Given the description of an element on the screen output the (x, y) to click on. 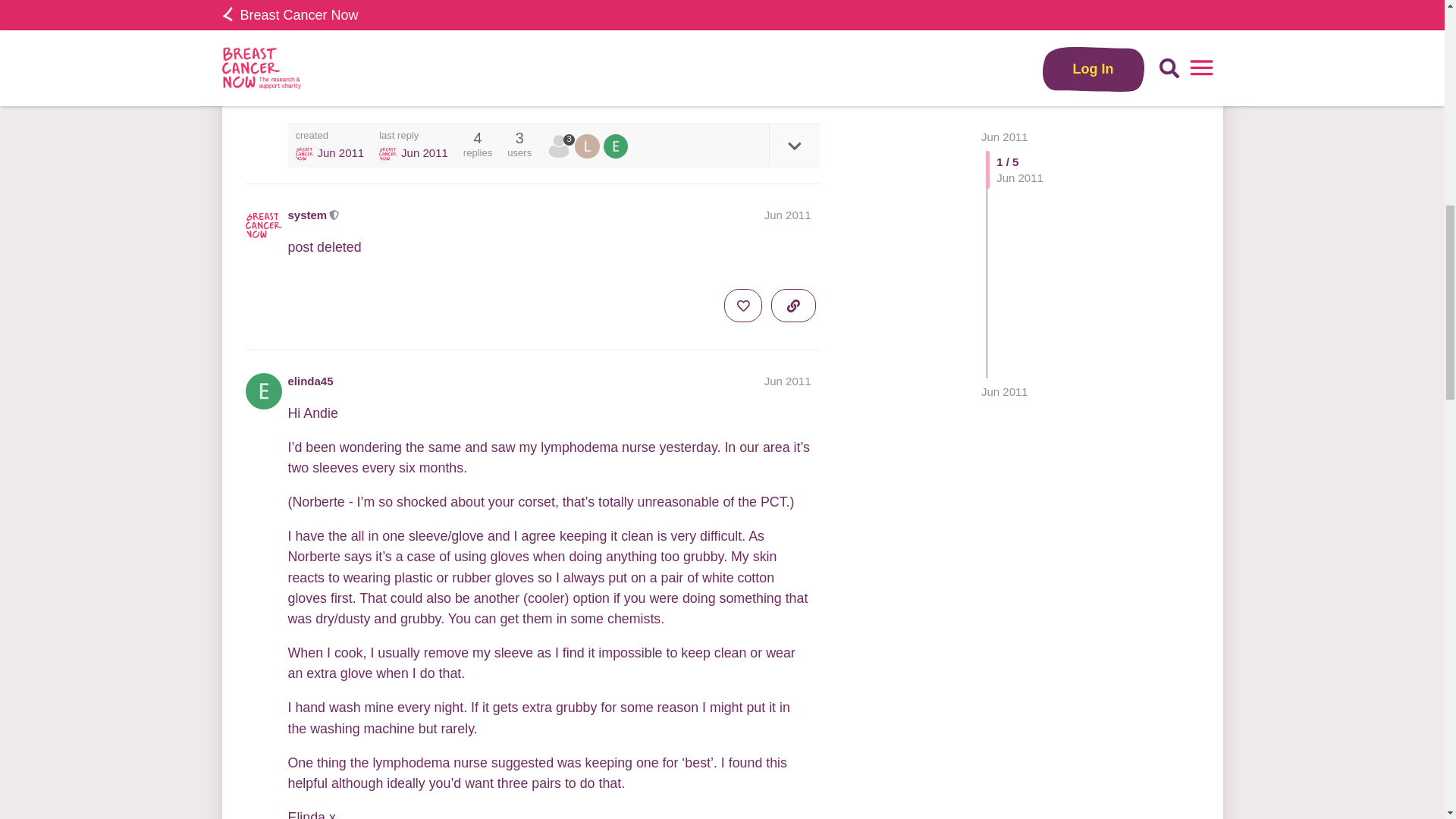
copy a link to this post to clipboard (793, 79)
last reply (413, 135)
3 (561, 146)
system (558, 146)
29 Jun 2011 06:06 (340, 152)
system (561, 146)
Jun 2011 (787, 380)
system (307, 214)
system (387, 153)
Jun 2011 (787, 214)
Jun 2011 (1004, 20)
30 Jun 2011 06:09 (424, 152)
elinda45 (310, 381)
expand topic details (793, 146)
like this post (742, 79)
